Given the description of an element on the screen output the (x, y) to click on. 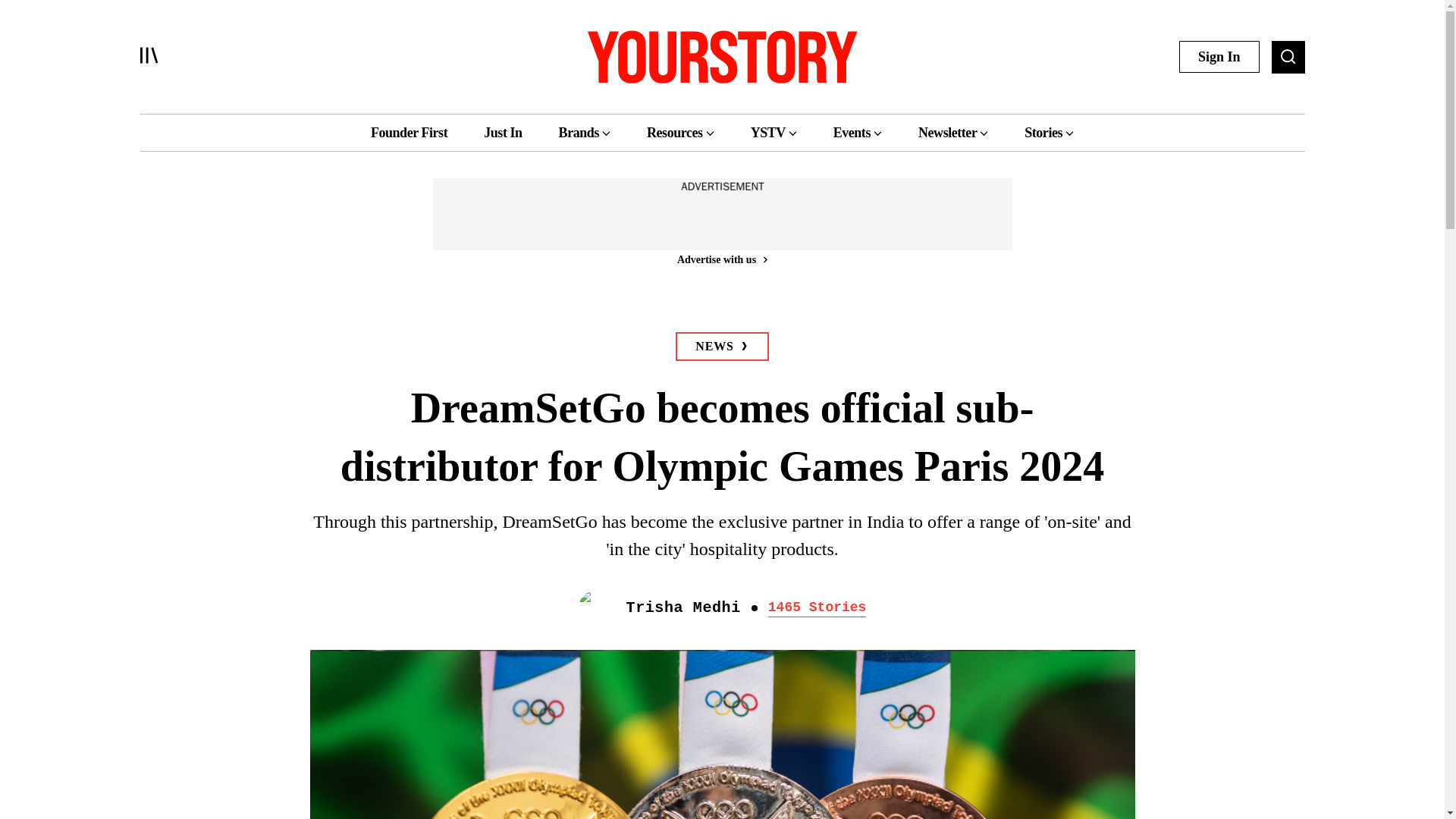
NEWS (721, 346)
Advertise with us (721, 259)
1465 Stories (817, 607)
Trisha Medhi (683, 607)
Founder First (408, 132)
Just In (502, 132)
